Given the description of an element on the screen output the (x, y) to click on. 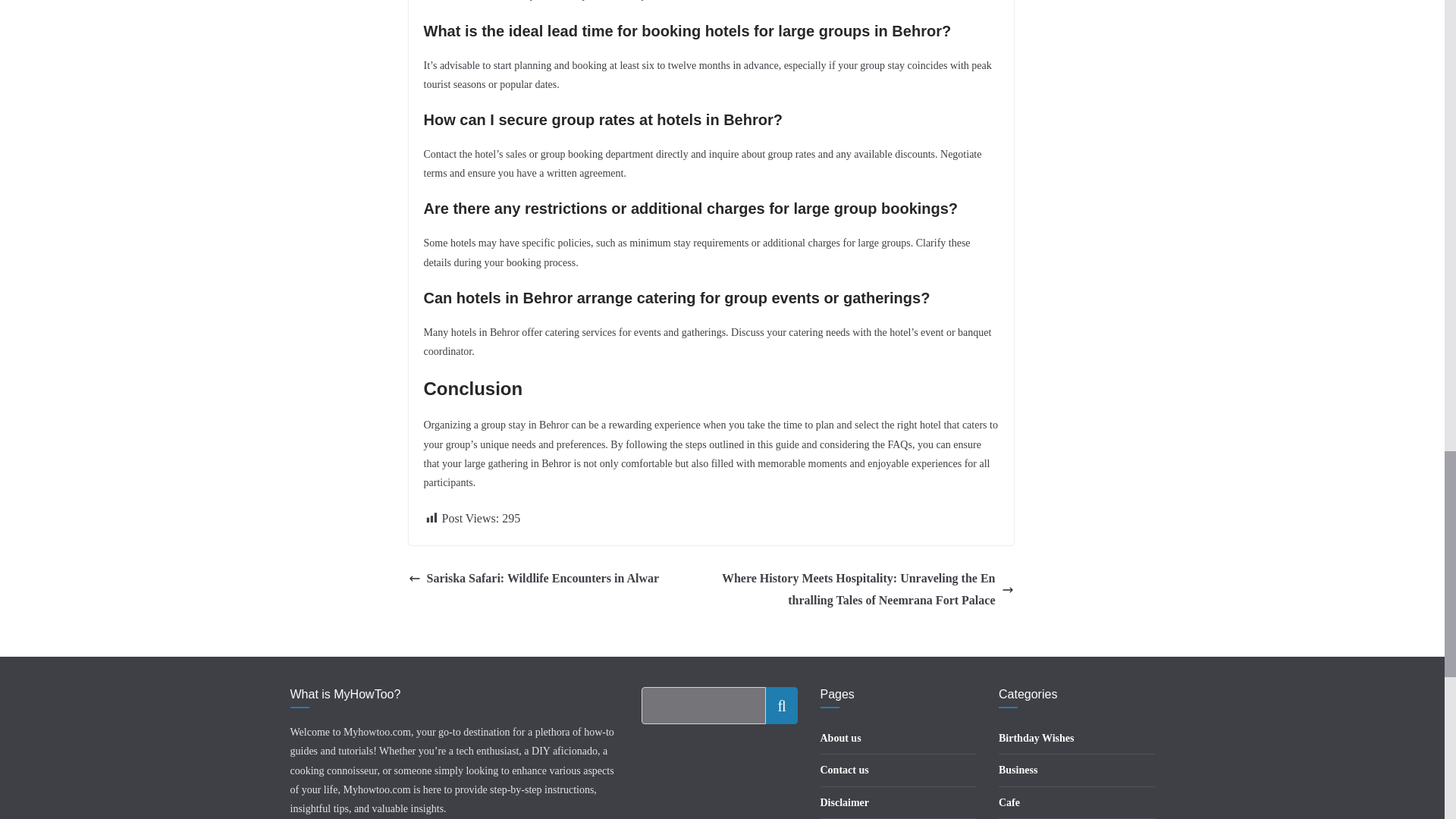
Cafe (1009, 802)
Contact us (845, 769)
Business (1017, 769)
Disclaimer (845, 802)
About us (841, 737)
Sariska Safari: Wildlife Encounters in Alwar (533, 578)
Birthday Wishes (1036, 737)
